Given the description of an element on the screen output the (x, y) to click on. 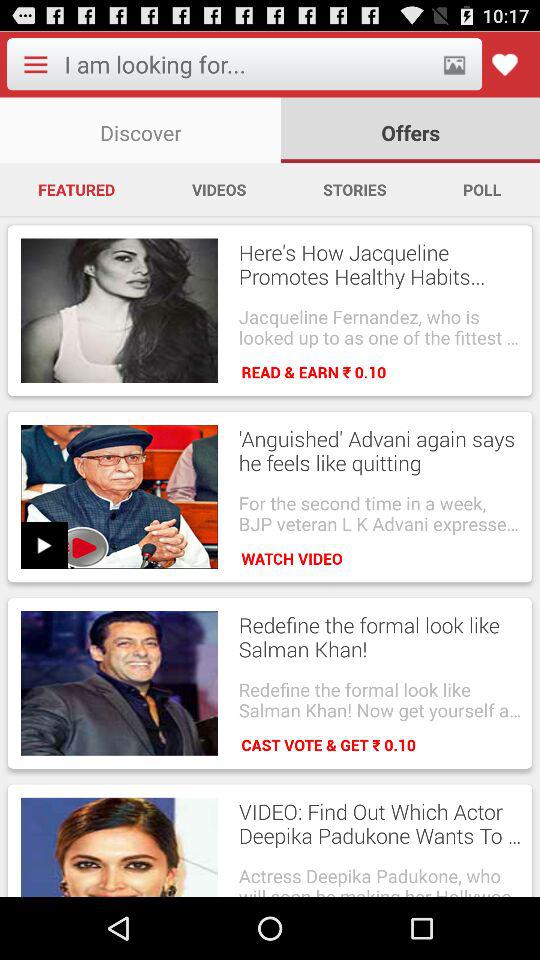
choose the app to the right of the featured item (218, 189)
